Given the description of an element on the screen output the (x, y) to click on. 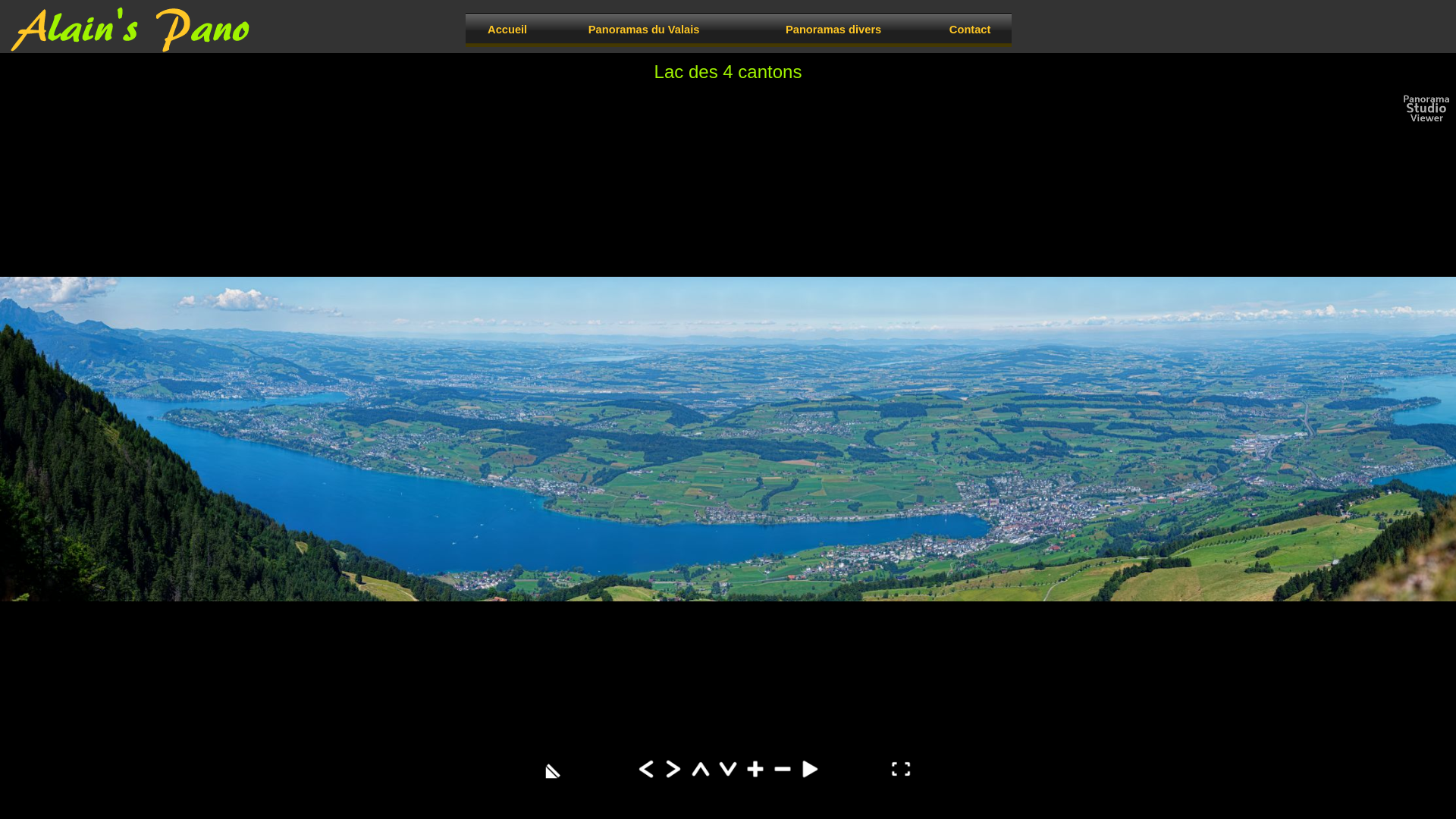
Accueil Element type: text (507, 29)
Panoramas du Valais Element type: text (643, 29)
Contact Element type: text (969, 29)
Panoramas divers Element type: text (833, 29)
